Given the description of an element on the screen output the (x, y) to click on. 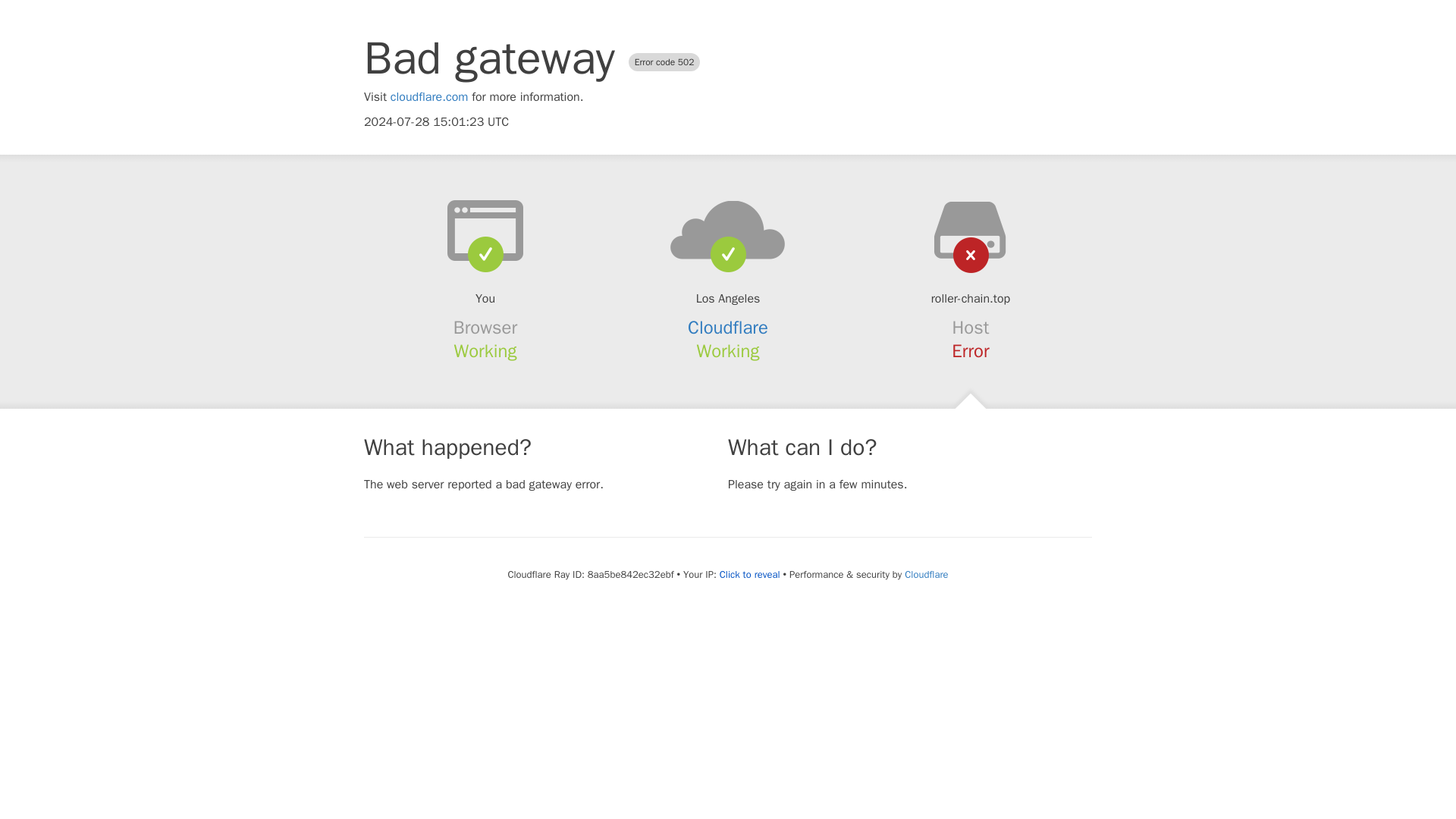
Cloudflare (925, 574)
cloudflare.com (429, 96)
Click to reveal (749, 574)
Cloudflare (727, 327)
